Given the description of an element on the screen output the (x, y) to click on. 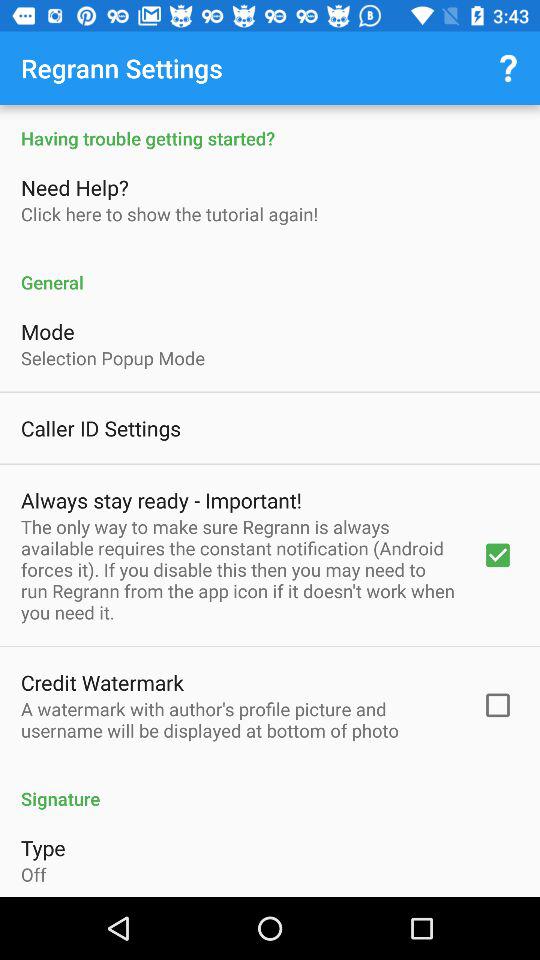
swipe until the type icon (43, 847)
